Given the description of an element on the screen output the (x, y) to click on. 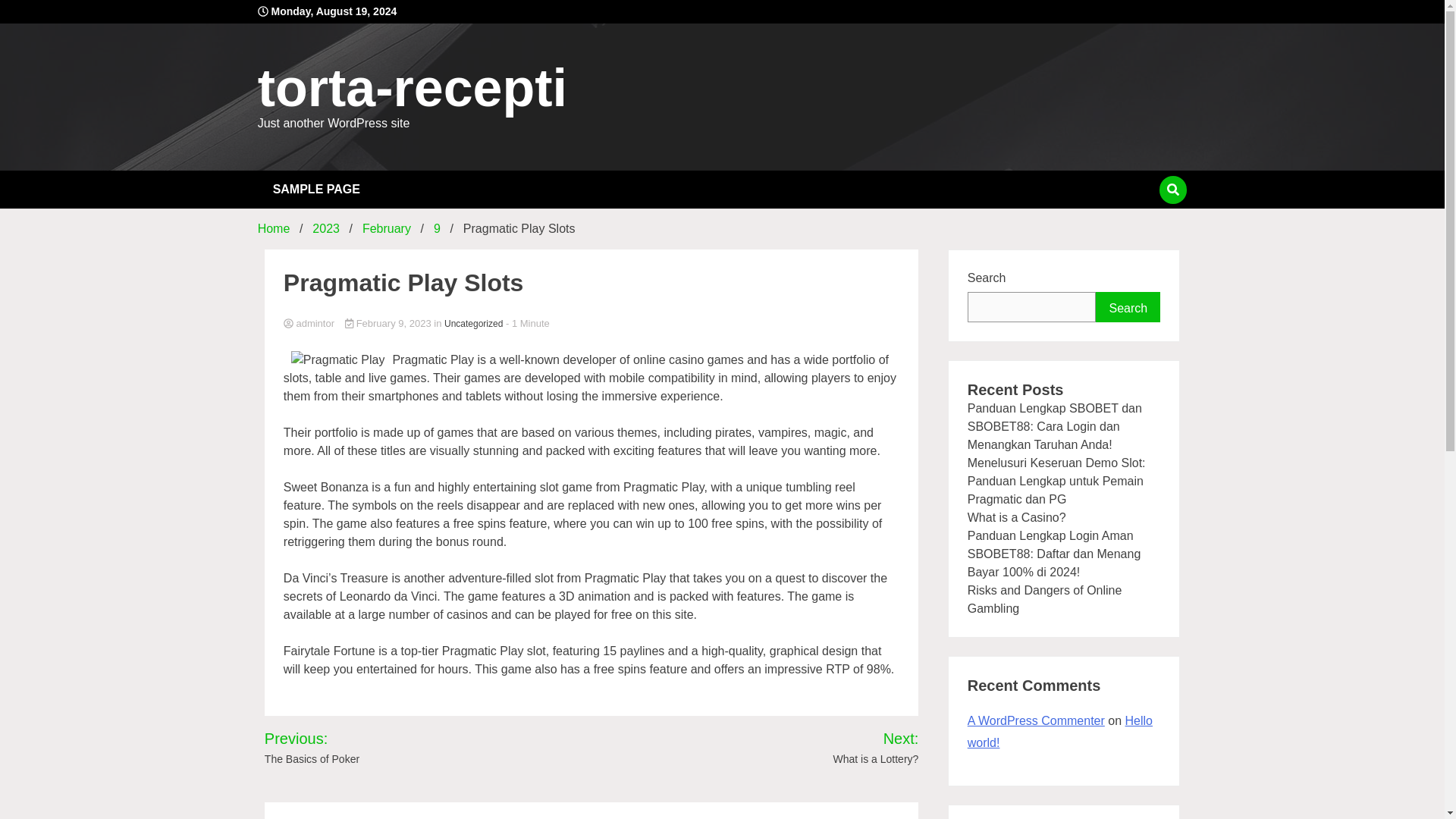
Hello world! (1060, 731)
February 9, 2023 (389, 323)
Estimated Reading Time of Article (527, 323)
Home (273, 228)
admintor (591, 323)
What is a Casino? (1016, 517)
Previous: The Basics of Poker (345, 747)
torta-recepti (412, 87)
